Given the description of an element on the screen output the (x, y) to click on. 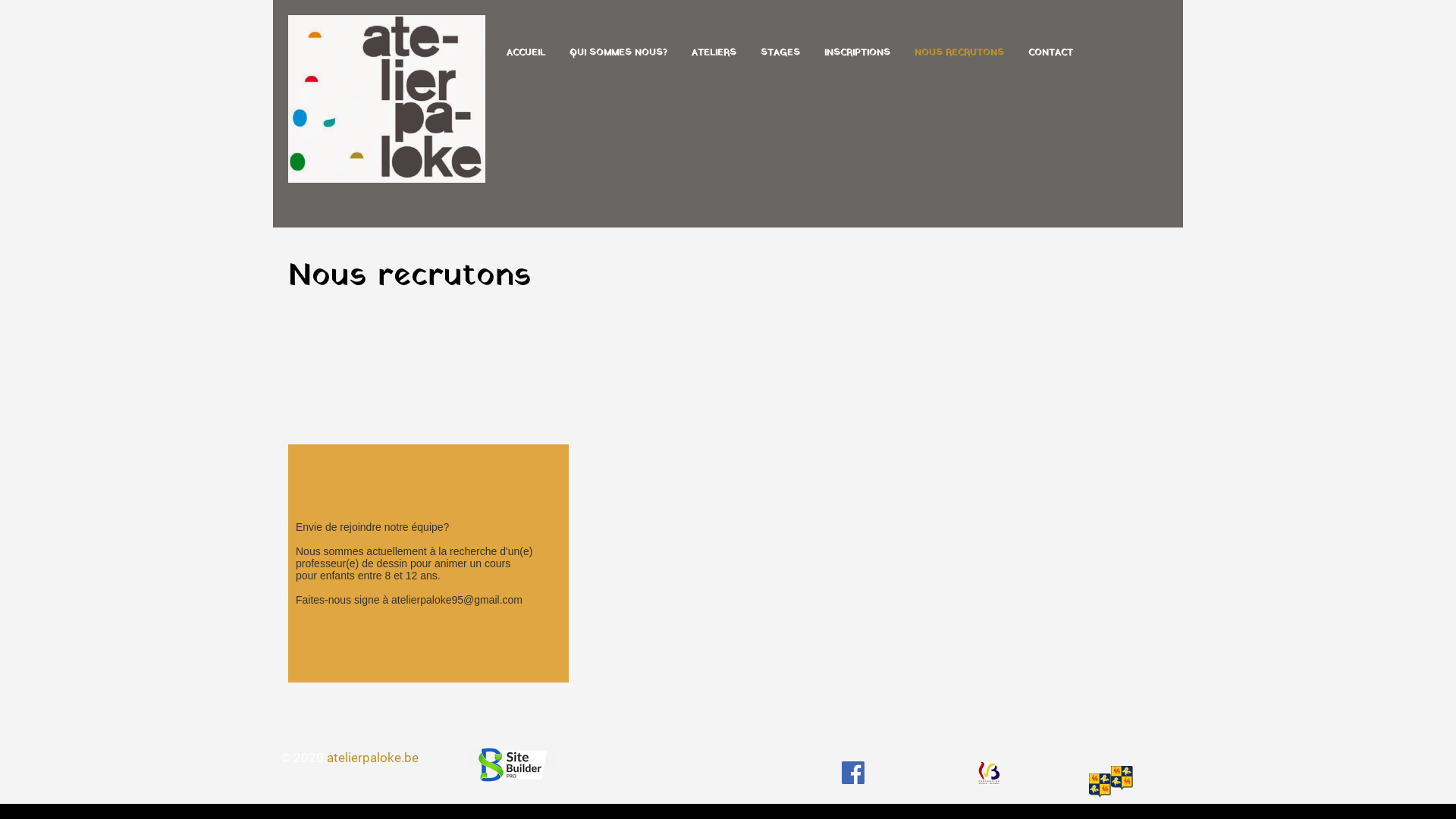
STAGES Element type: text (780, 54)
CONTACT Element type: text (1050, 54)
ACCUEIL Element type: text (525, 54)
atelierpaloke.be Element type: text (372, 756)
INSCRIPTIONS Element type: text (857, 54)
QUI SOMMES NOUS? Element type: text (618, 54)
NOUS RECRUTONS Element type: text (959, 54)
ATELIERS Element type: text (713, 54)
